Given the description of an element on the screen output the (x, y) to click on. 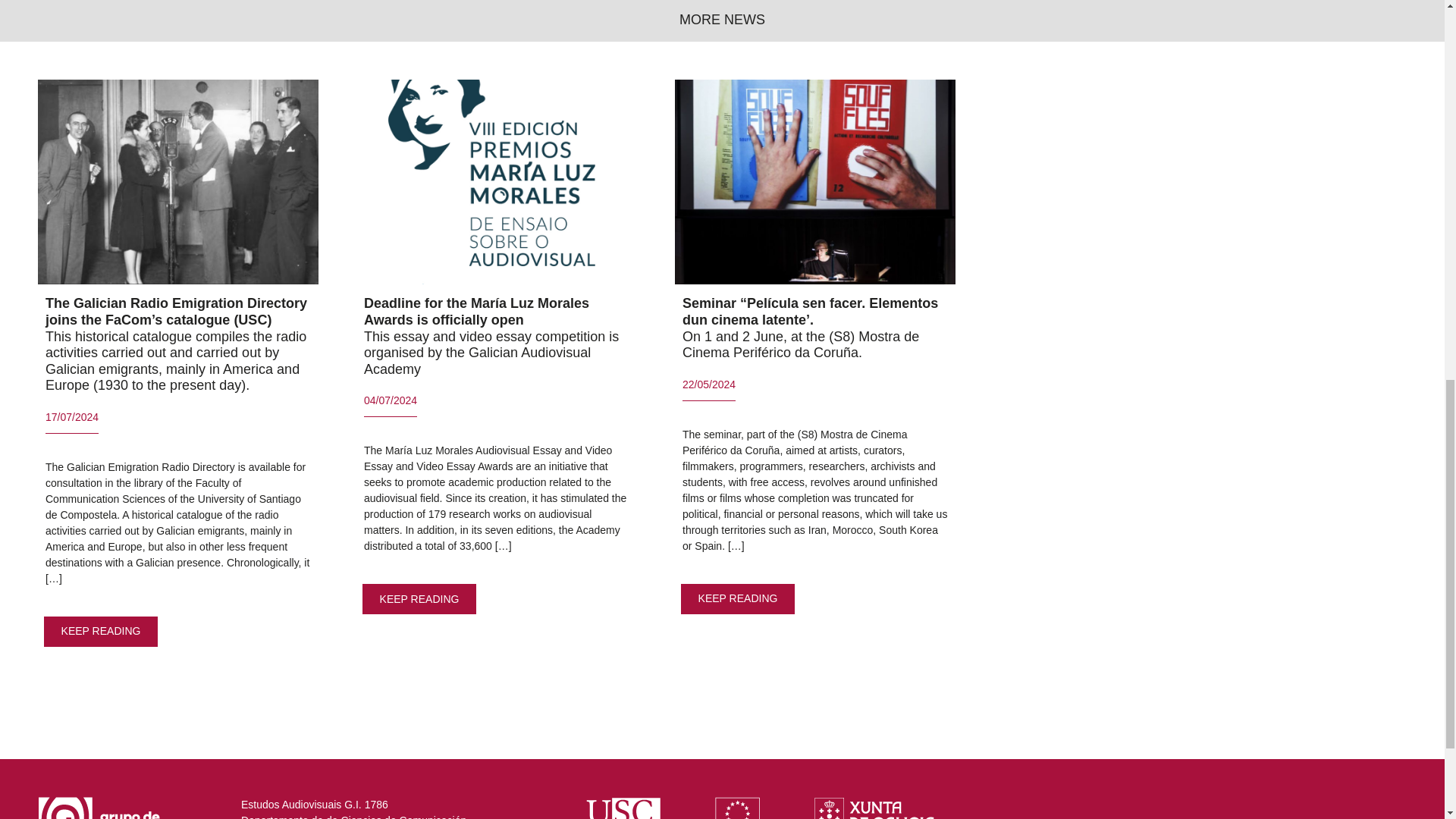
KEEP READING (101, 631)
KEEP READING (737, 598)
KEEP READING (420, 599)
